Given the description of an element on the screen output the (x, y) to click on. 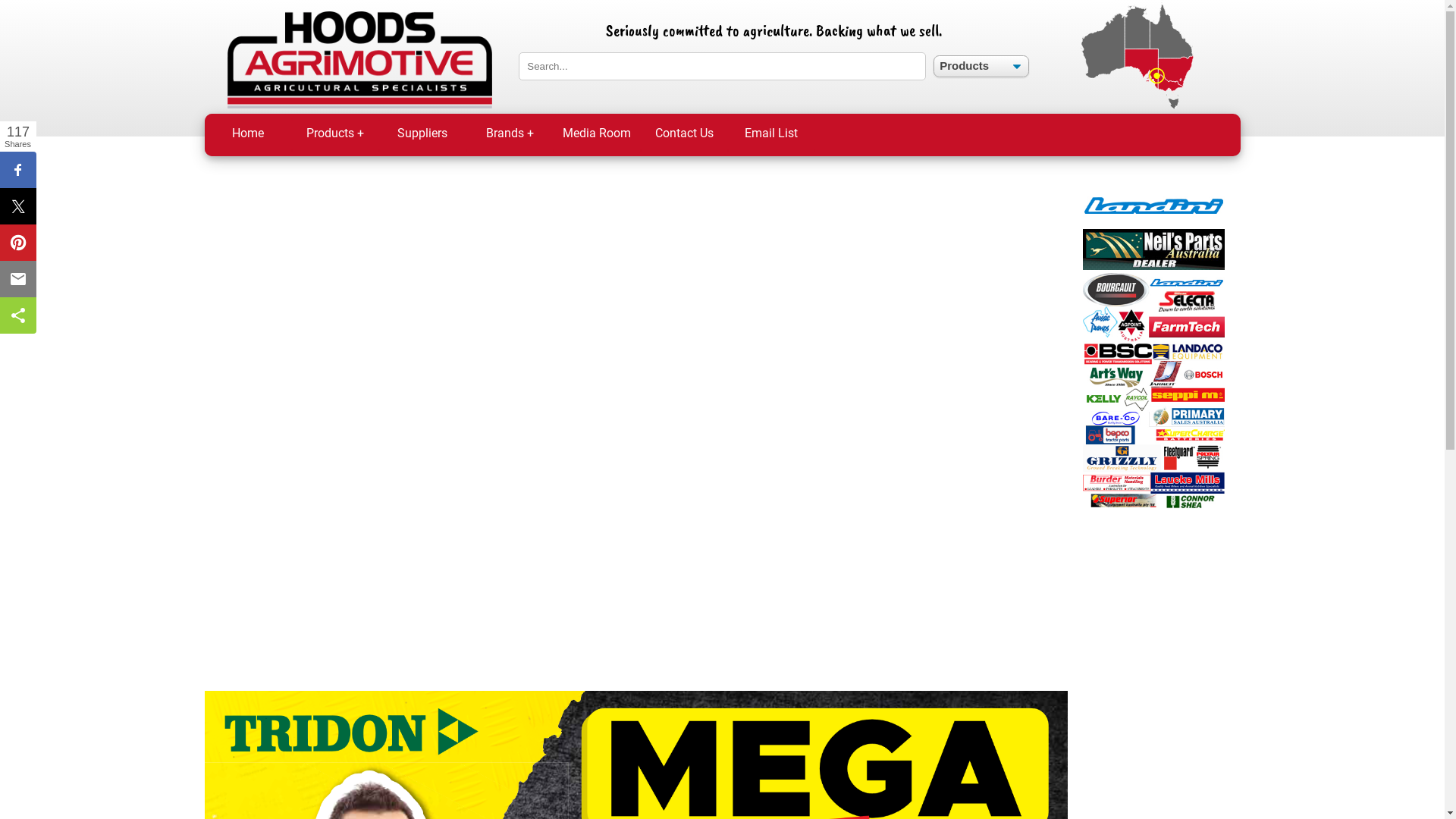
Email List Element type: text (771, 134)
Products + Element type: text (334, 134)
Home Element type: text (247, 134)
Suppliers Element type: text (422, 134)
Media Room Element type: text (596, 134)
YouTube video player Element type: hover (635, 422)
Contact Us Element type: text (683, 134)
Brands + Element type: text (508, 134)
